Given the description of an element on the screen output the (x, y) to click on. 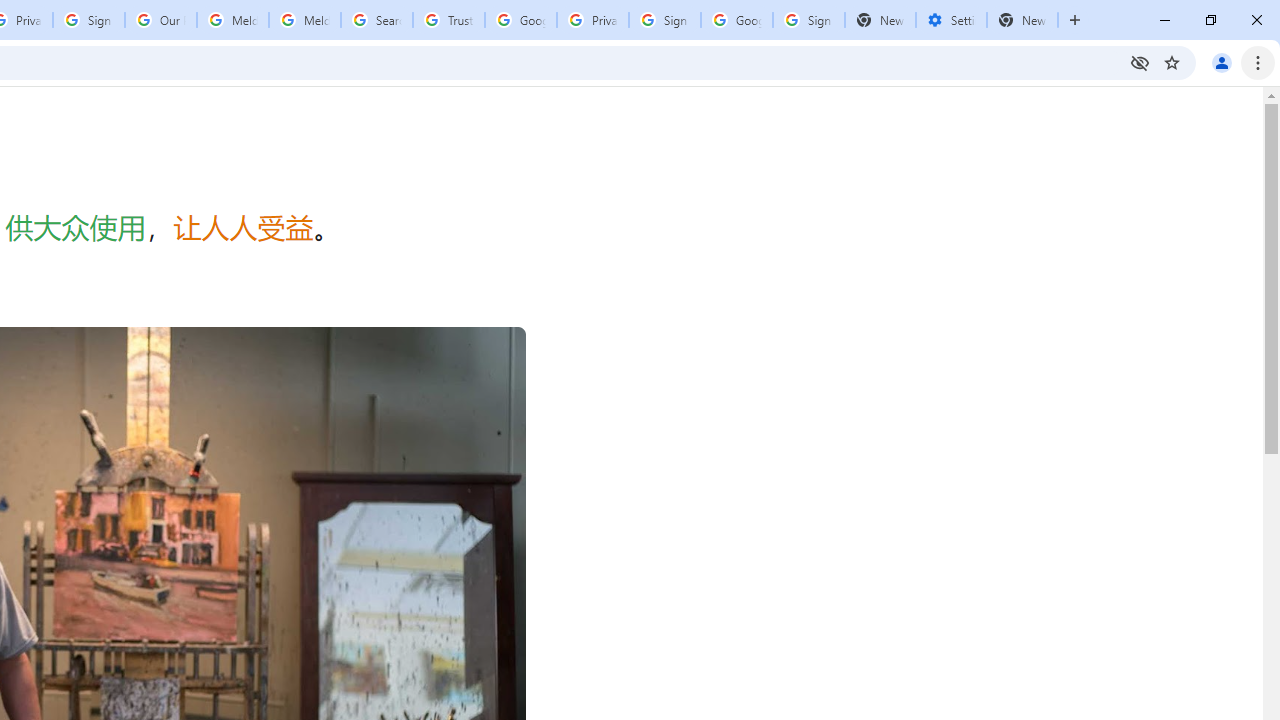
Sign in - Google Accounts (808, 20)
Settings - Addresses and more (951, 20)
